Given the description of an element on the screen output the (x, y) to click on. 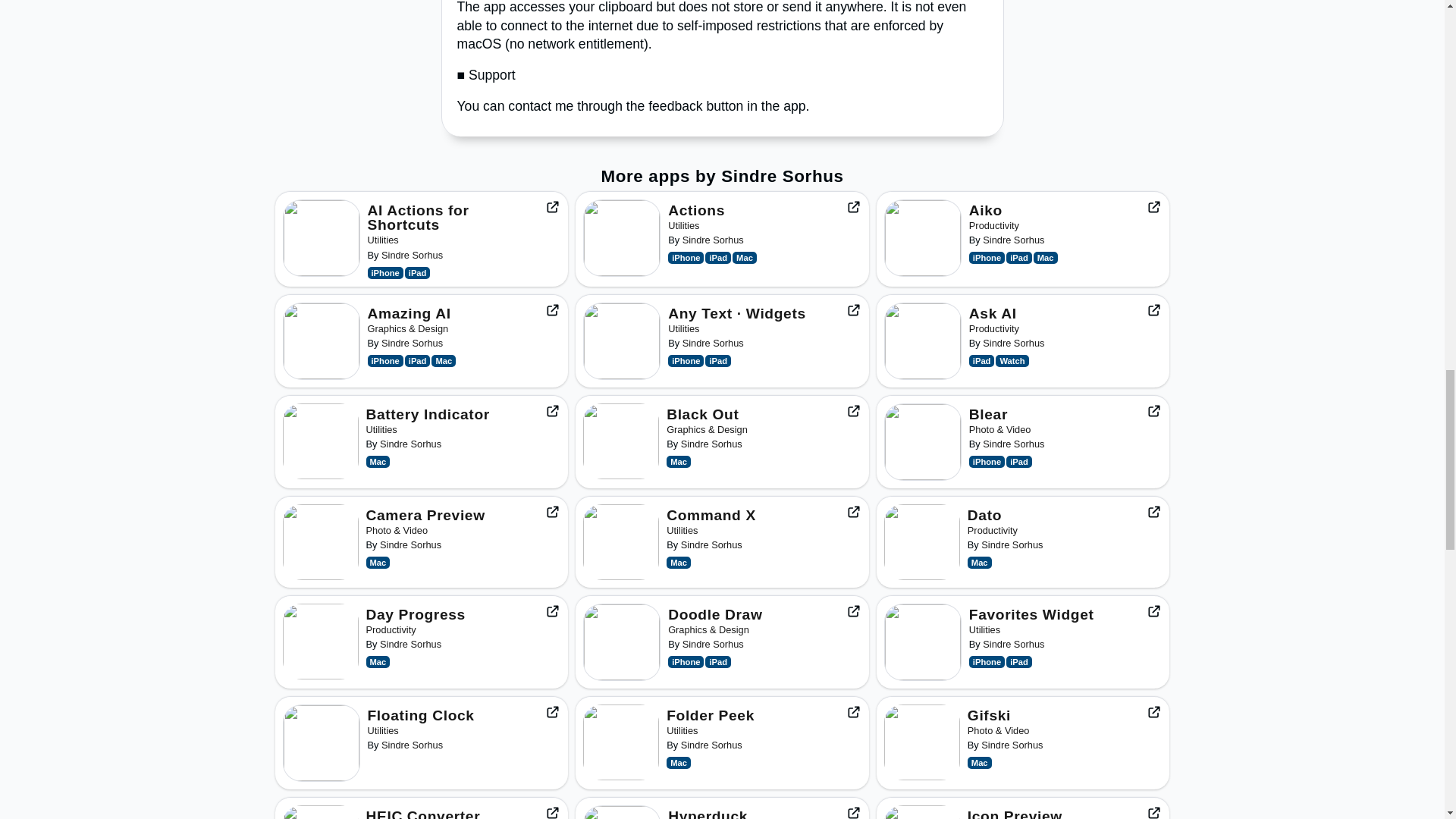
View on App Store (1154, 511)
View on App Store (853, 611)
View on App Store (552, 511)
View on App Store (552, 309)
Actions (696, 210)
View on App Store (853, 410)
View on App Store (853, 206)
View on App Store (552, 711)
View on App Store (552, 410)
Sindre Sorhus (1012, 239)
View on App Store (552, 206)
View on App Store (1154, 309)
Utilities (683, 225)
View on App Store (552, 812)
Sindre Sorhus (411, 342)
